Given the description of an element on the screen output the (x, y) to click on. 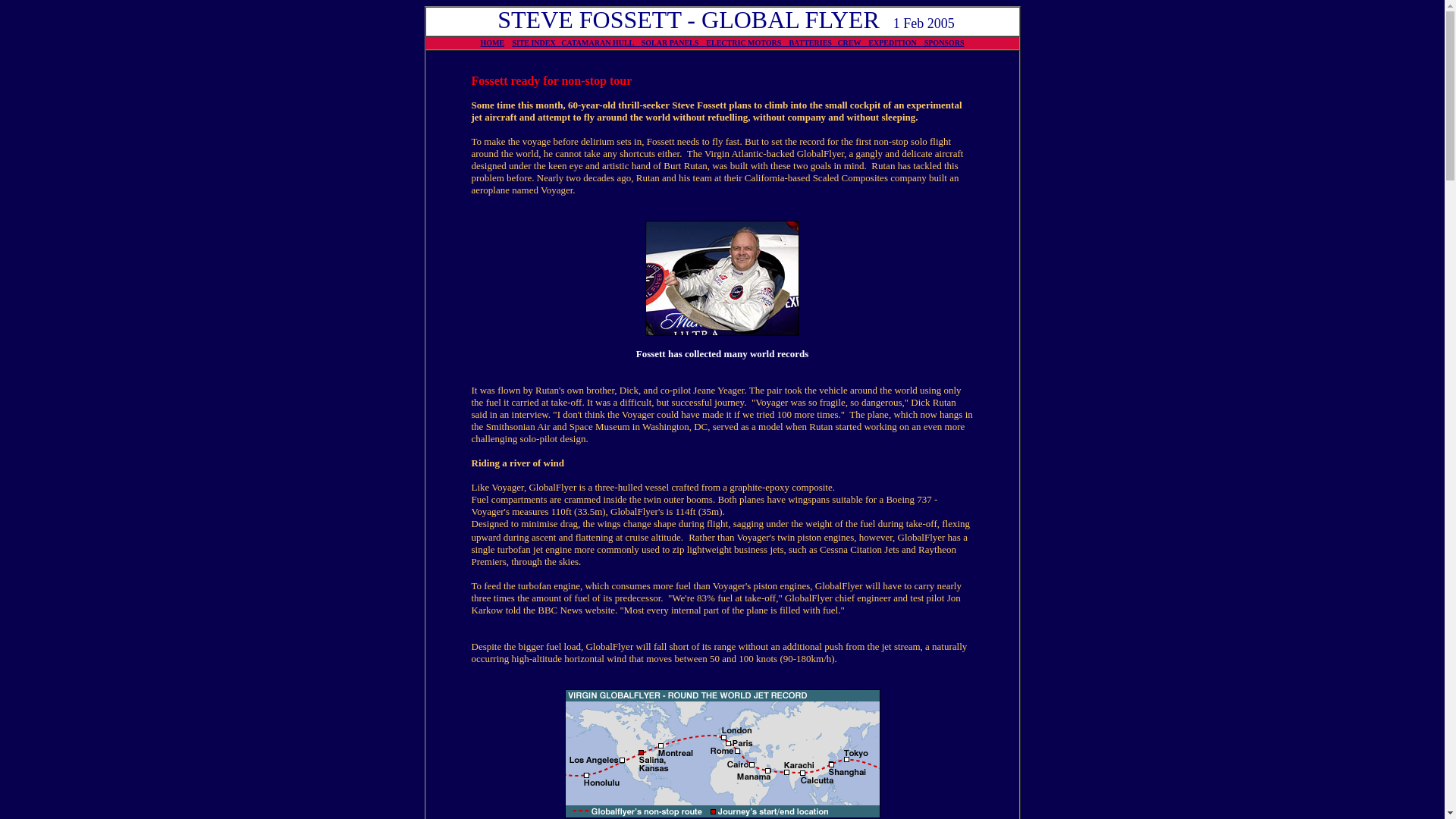
BATTERIES   (813, 42)
SITE INDEX   (536, 42)
HOME (492, 42)
ELECTRIC MOTORS    (747, 42)
SPONSORS (943, 42)
EXPEDITION    (895, 42)
CATAMARAN HULL    (600, 42)
CREW    (852, 42)
SOLAR PANELS    (674, 42)
